Given the description of an element on the screen output the (x, y) to click on. 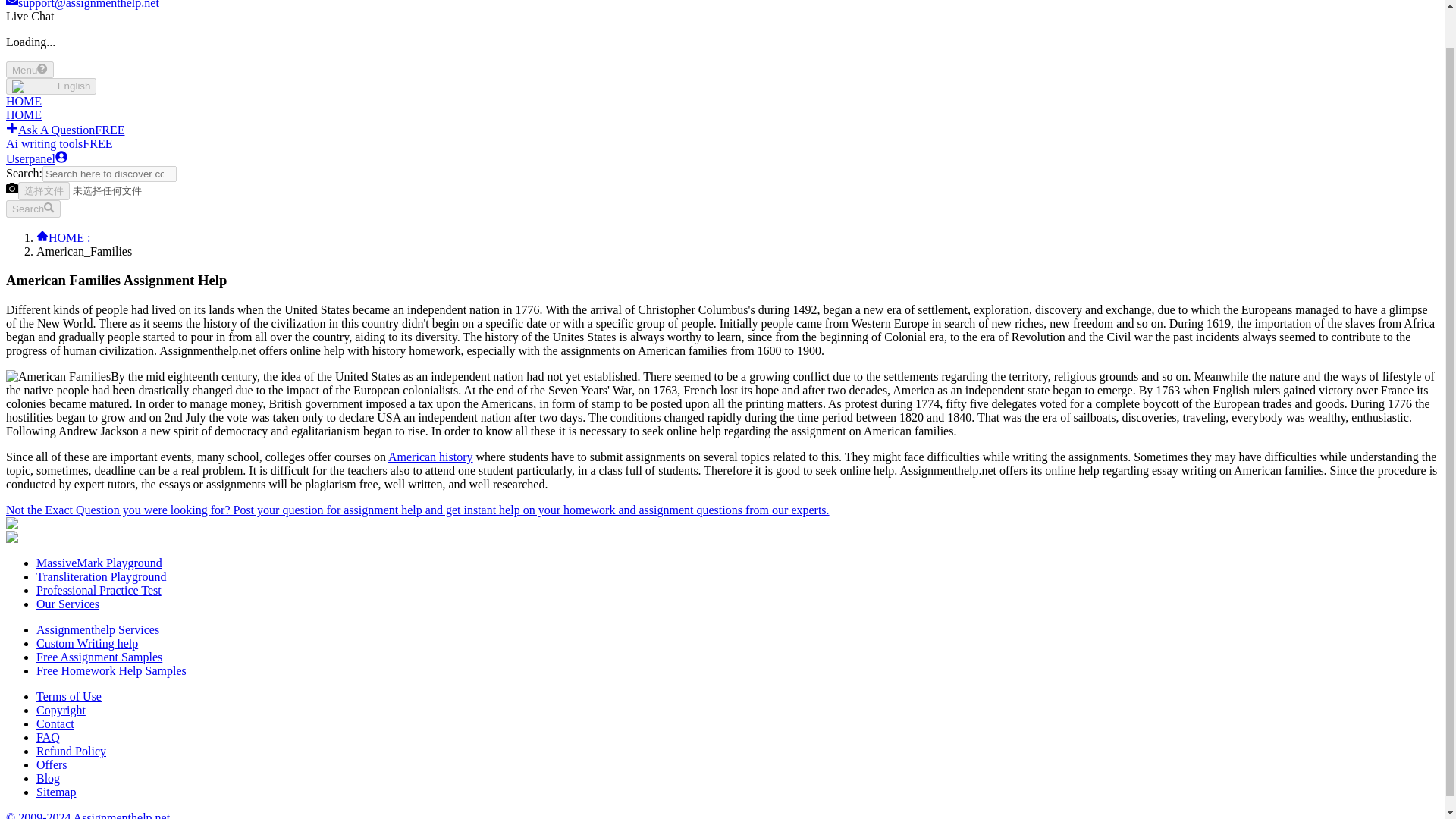
HOME : (63, 237)
HOME (23, 101)
Free Assignment Samples (98, 656)
American history (430, 456)
Search by Image (11, 187)
Terms of Use (68, 696)
Offers (51, 764)
Userpanel (35, 158)
Transliteration Playground (100, 576)
Contact (55, 723)
Blog (47, 778)
Assignmenthelp Services (97, 629)
Search (33, 208)
Professional Practice Test (98, 590)
